Given the description of an element on the screen output the (x, y) to click on. 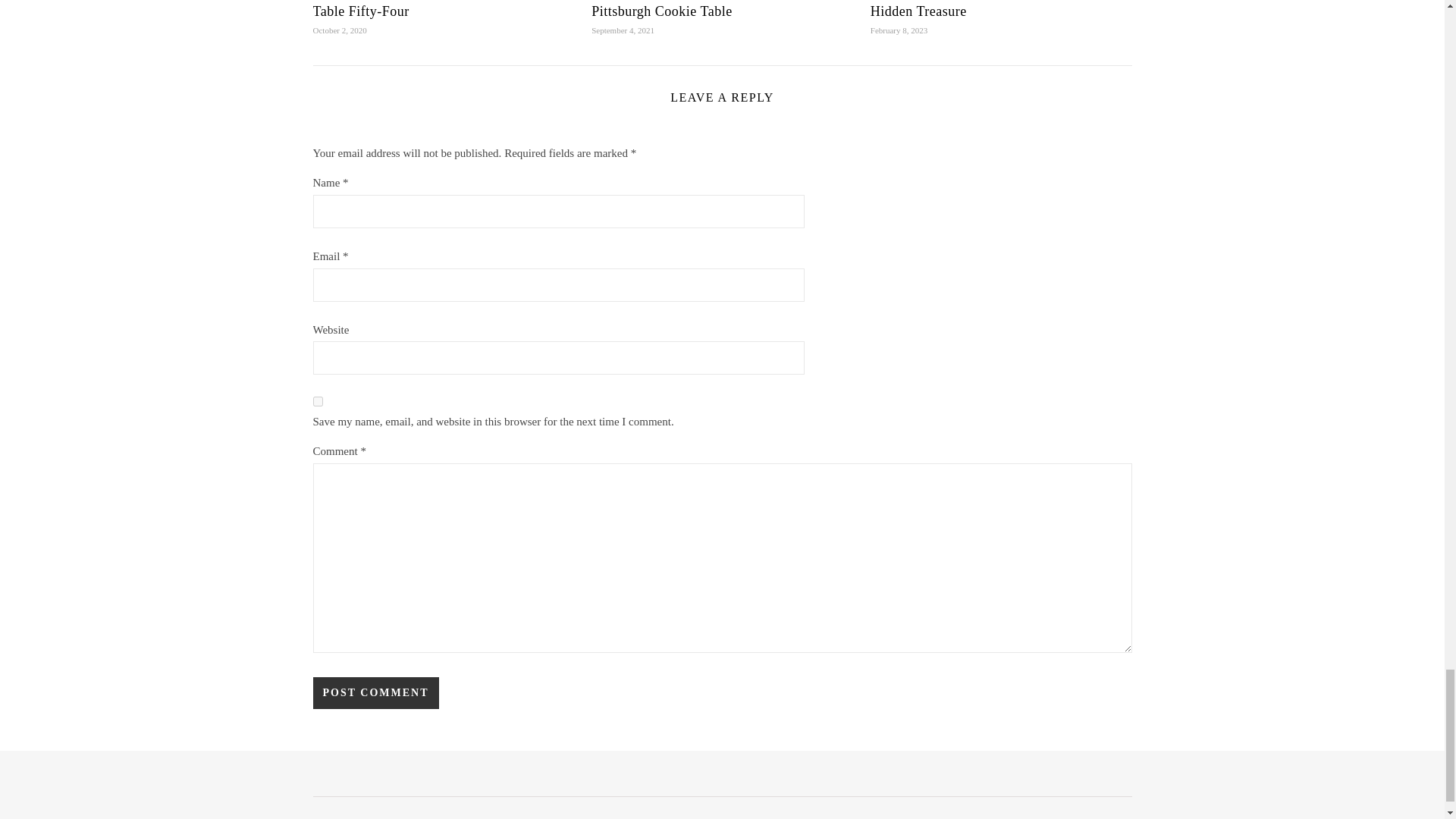
yes (317, 401)
Post Comment (375, 693)
Hidden Treasure (918, 11)
Pittsburgh Cookie Table (661, 11)
Table Fifty-Four (361, 11)
Post Comment (375, 693)
